Given the description of an element on the screen output the (x, y) to click on. 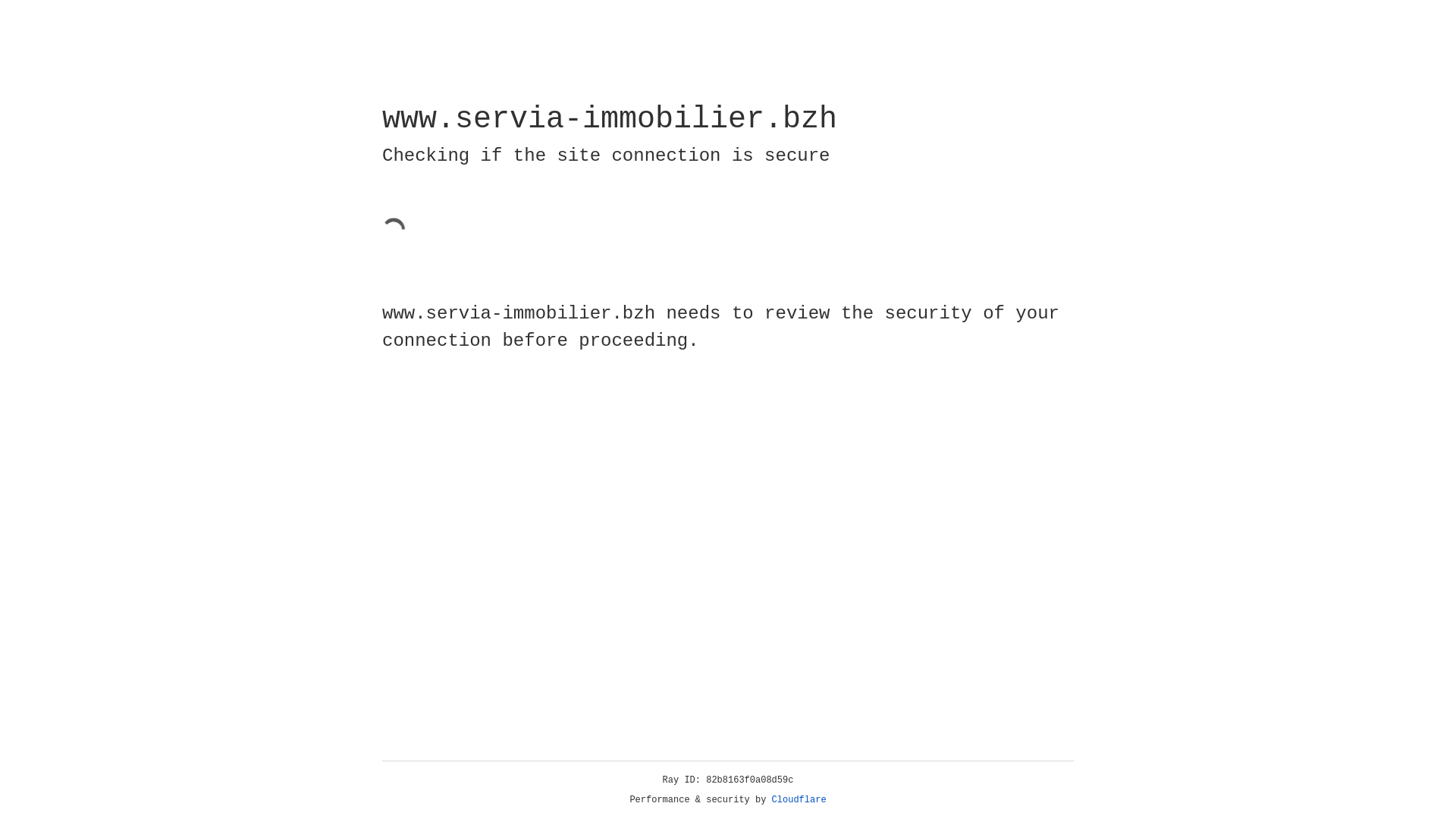
Cloudflare Element type: text (798, 799)
